Given the description of an element on the screen output the (x, y) to click on. 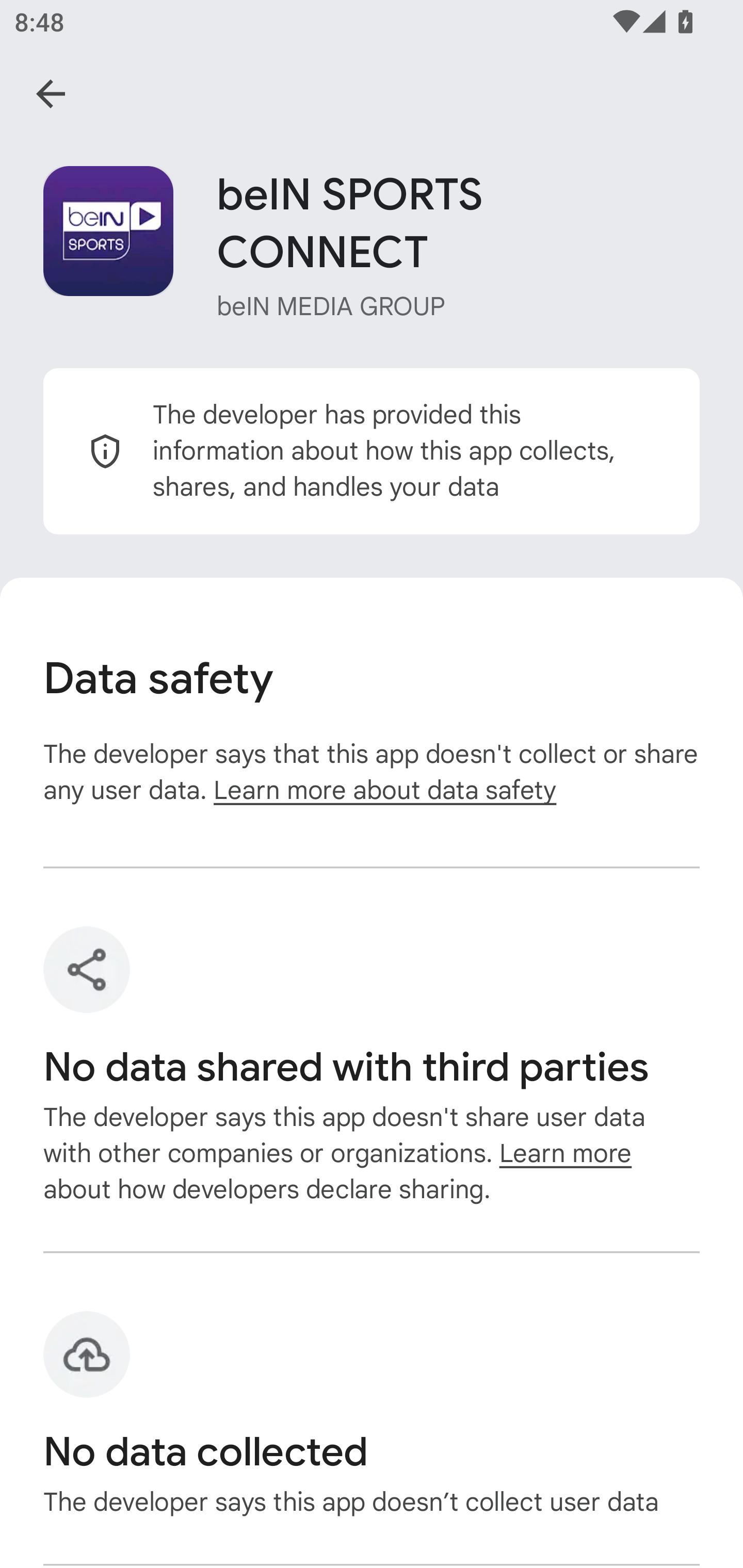
Navigate up (50, 93)
